Given the description of an element on the screen output the (x, y) to click on. 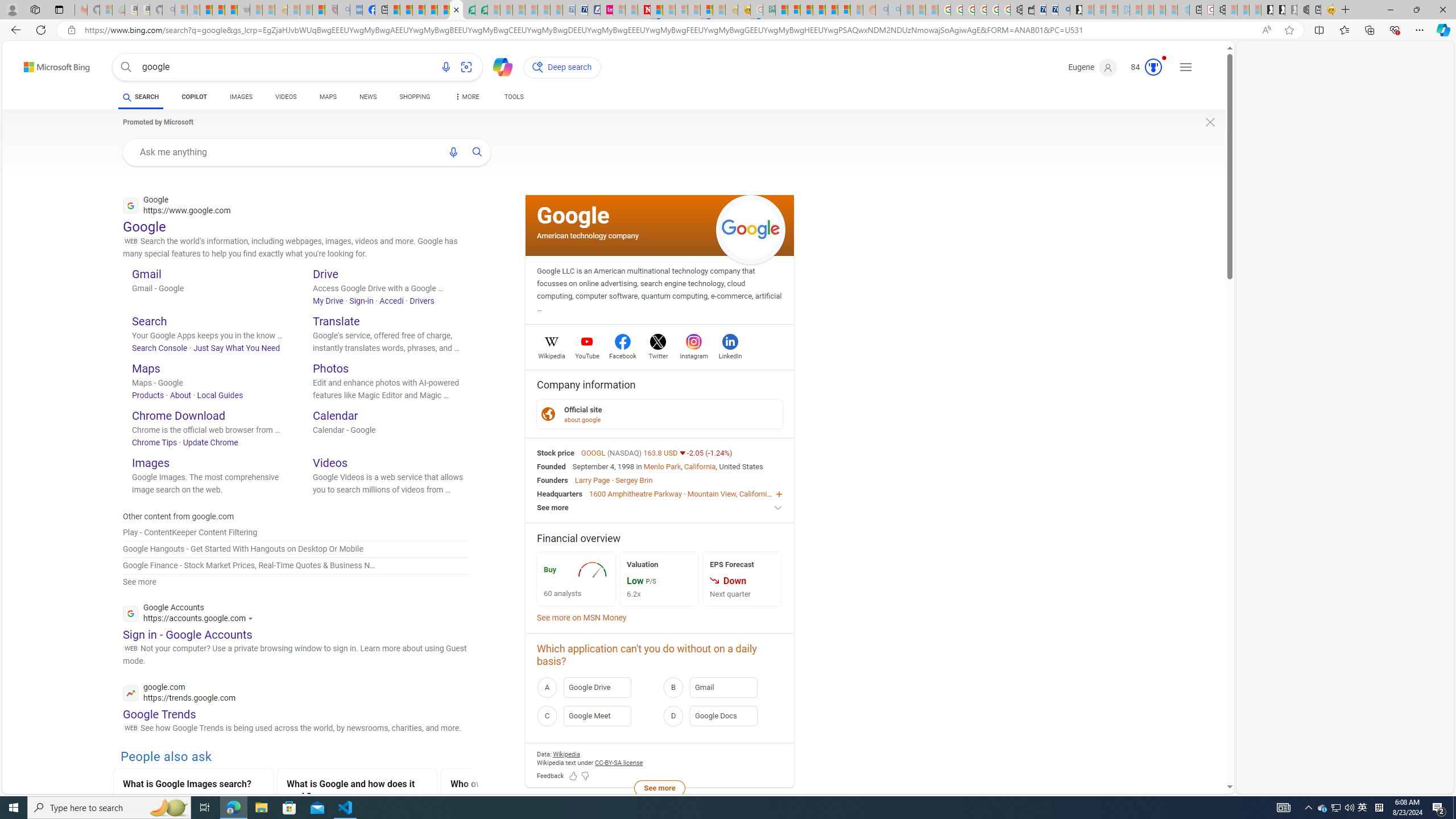
AutomationID: rh_meter (1152, 66)
What is Google Images search? (192, 784)
Latest Politics News & Archive | Newsweek.com (644, 9)
Update Chrome (210, 442)
D Google Docs (722, 715)
